Given the description of an element on the screen output the (x, y) to click on. 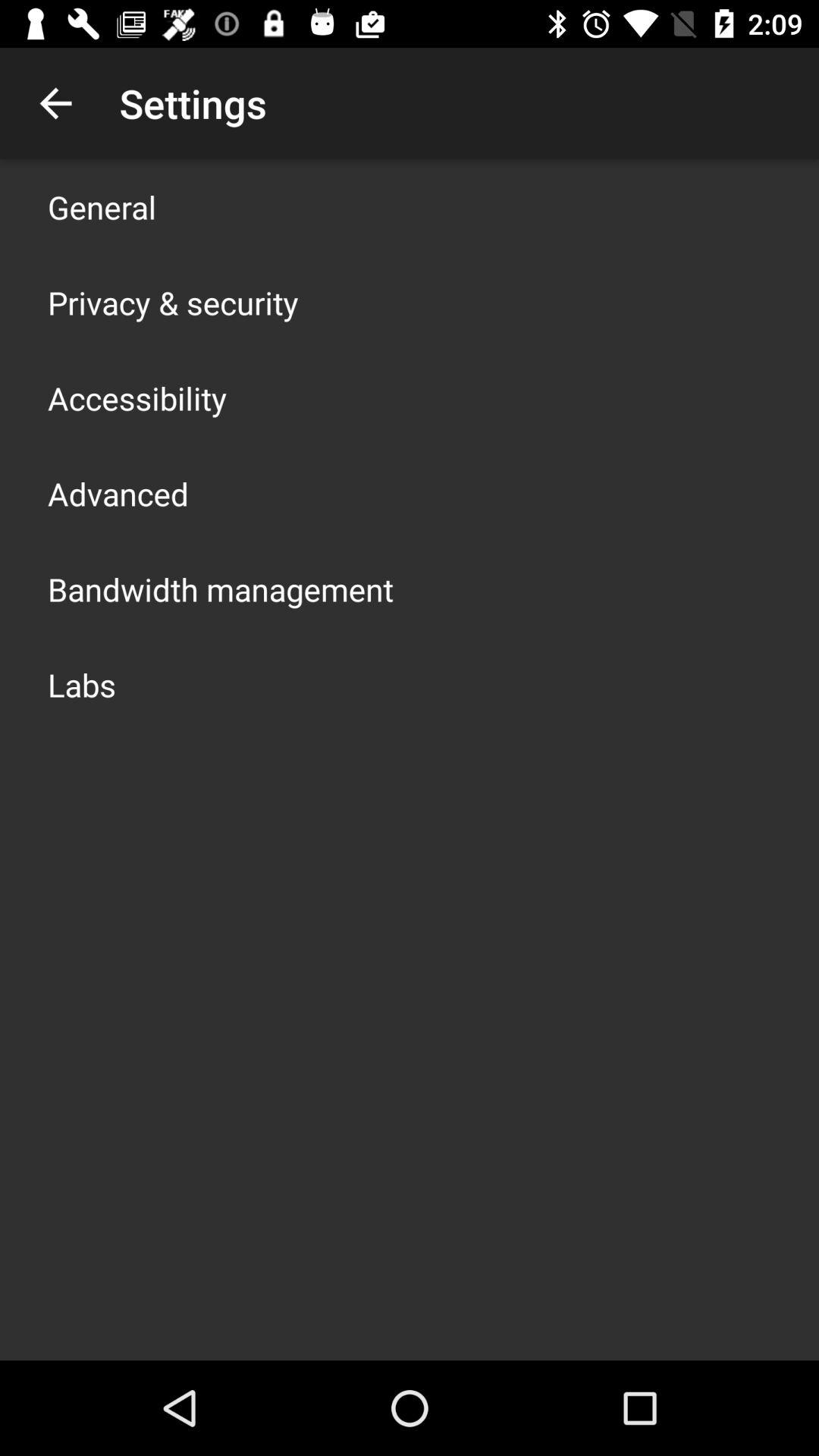
scroll to the bandwidth management item (220, 588)
